Given the description of an element on the screen output the (x, y) to click on. 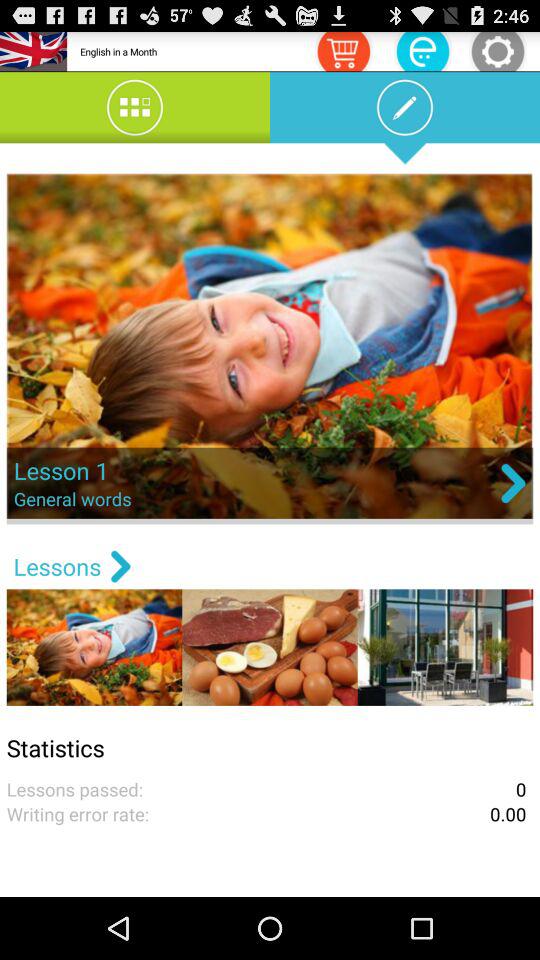
click on the symbol which is left hand side of shoping cart (422, 51)
select the third image under the text lessons (445, 647)
select the image which is below edit icon (269, 348)
select the first image below lessons text (94, 647)
select the cart symbol after english in a month (343, 51)
